Given the description of an element on the screen output the (x, y) to click on. 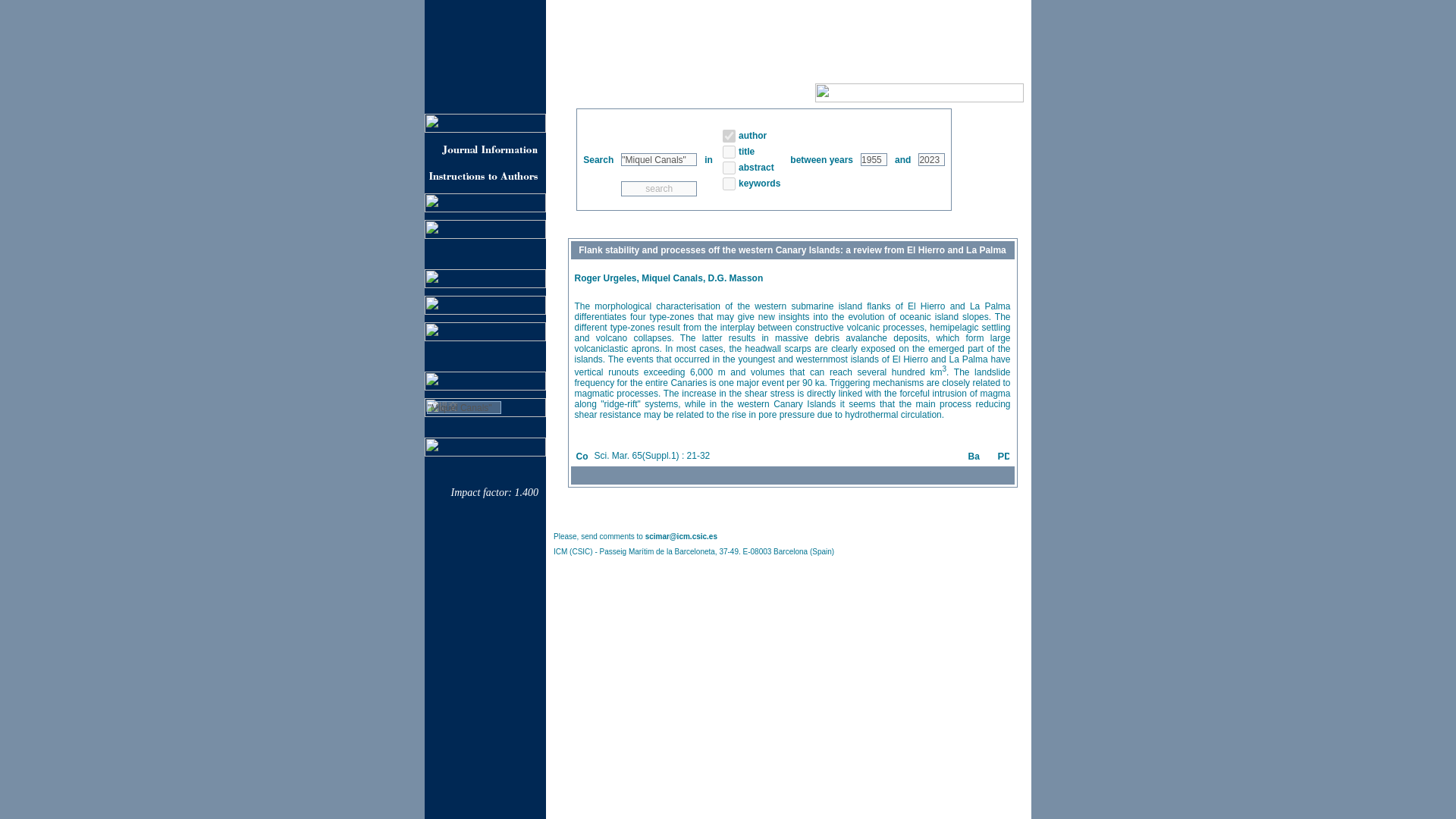
1955 (873, 159)
1 (728, 166)
"Miquel Canals" (659, 159)
1 (728, 183)
1 (728, 134)
search (659, 188)
"Miquel Canals" (463, 407)
2023 (931, 159)
1 (728, 151)
search (659, 188)
